Given the description of an element on the screen output the (x, y) to click on. 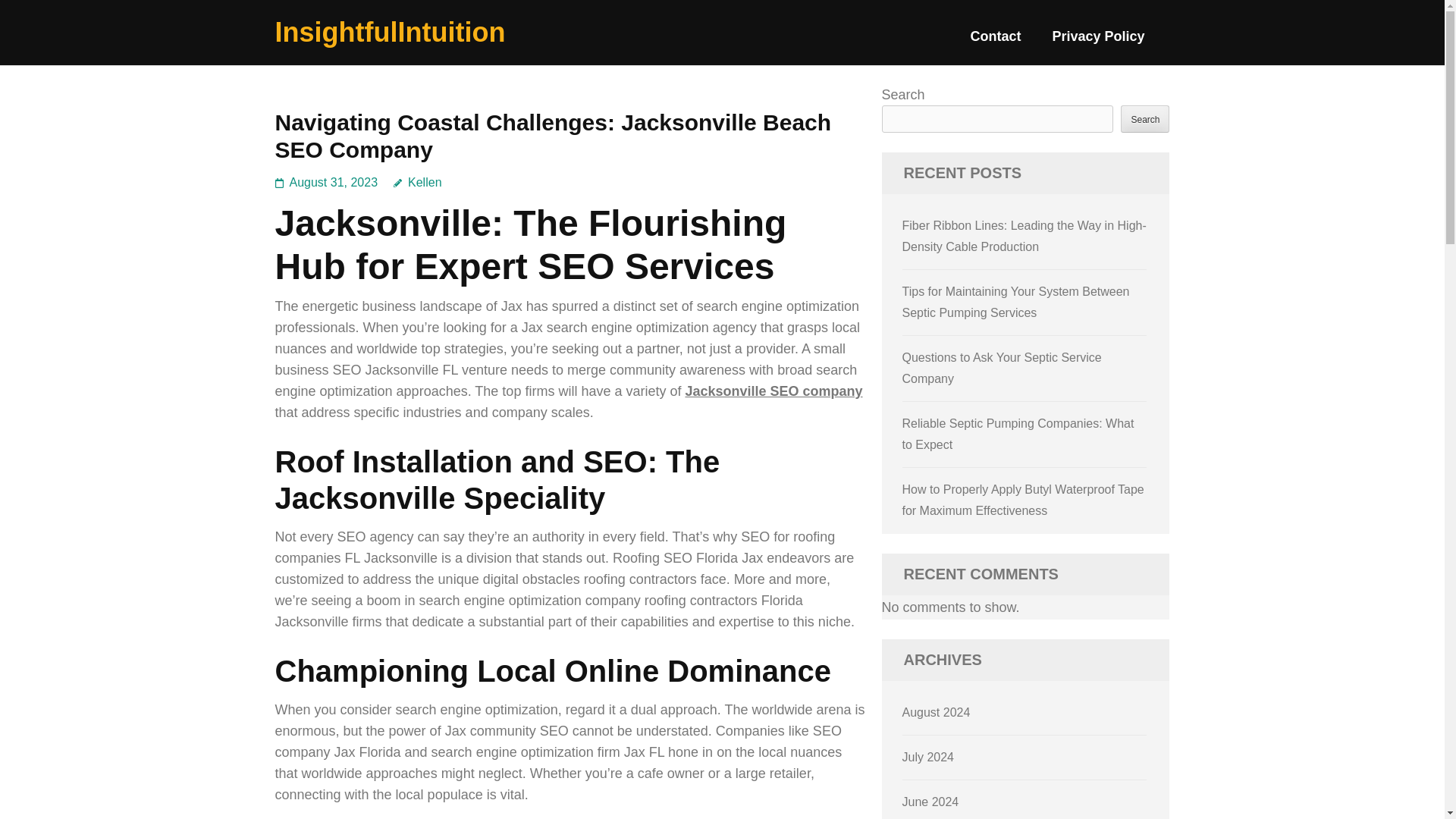
August 31, 2023 (333, 182)
July 2024 (928, 757)
Privacy Policy (1097, 42)
Jacksonville SEO company (772, 391)
Questions to Ask Your Septic Service Company (1002, 367)
Contact (994, 42)
InsightfulIntuition (390, 31)
Search (1145, 118)
